Given the description of an element on the screen output the (x, y) to click on. 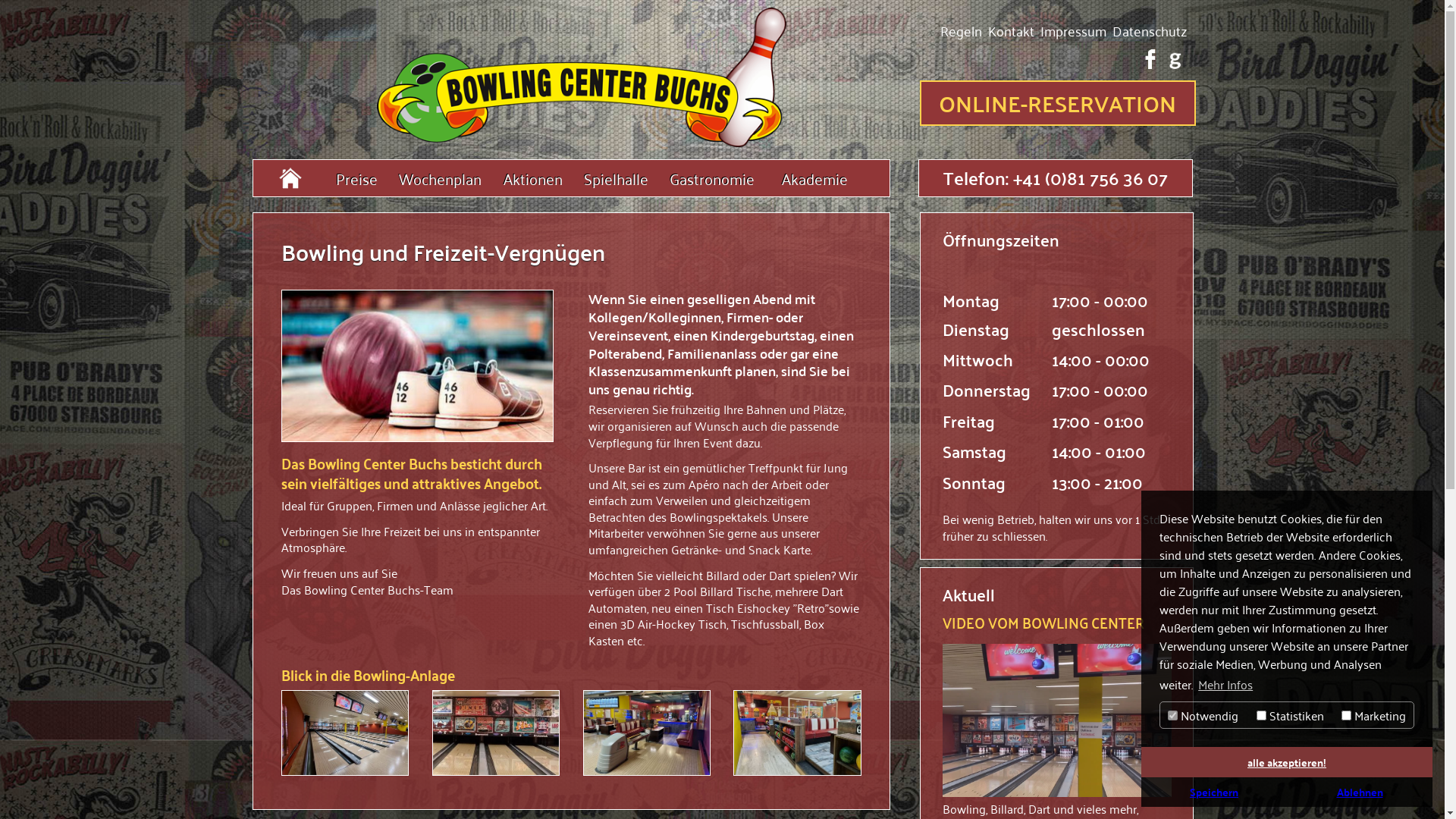
facebook Bowling Center Buchs SG Element type: hover (1149, 59)
Akademie Element type: text (814, 178)
Mehr Infos Element type: text (1225, 683)
Video vom Bowling Center Element type: hover (1056, 719)
Telefon: +41 (0)81 756 36 07 Element type: text (1055, 177)
Strike n spare, Bowling in Buchs Element type: hover (290, 178)
VIDEO VOM BOWLING CENTER Element type: text (1043, 621)
Speichern Element type: text (1213, 791)
Aktionen Element type: text (532, 178)
Datenschutz Element type: text (1148, 30)
Wochenplan Element type: text (439, 178)
Regeln Element type: text (961, 30)
Impressum Element type: text (1073, 30)
Strike n spare, Bowling in Buchs Element type: hover (570, 73)
ONLINE-RESERVATION Element type: text (1057, 102)
Ablehnen Element type: text (1359, 791)
Kontakt Element type: text (1010, 30)
Spielhalle Element type: text (615, 178)
Preise Element type: text (356, 178)
Gastronomie Element type: text (711, 178)
alle akzeptieren! Element type: text (1286, 761)
